Given the description of an element on the screen output the (x, y) to click on. 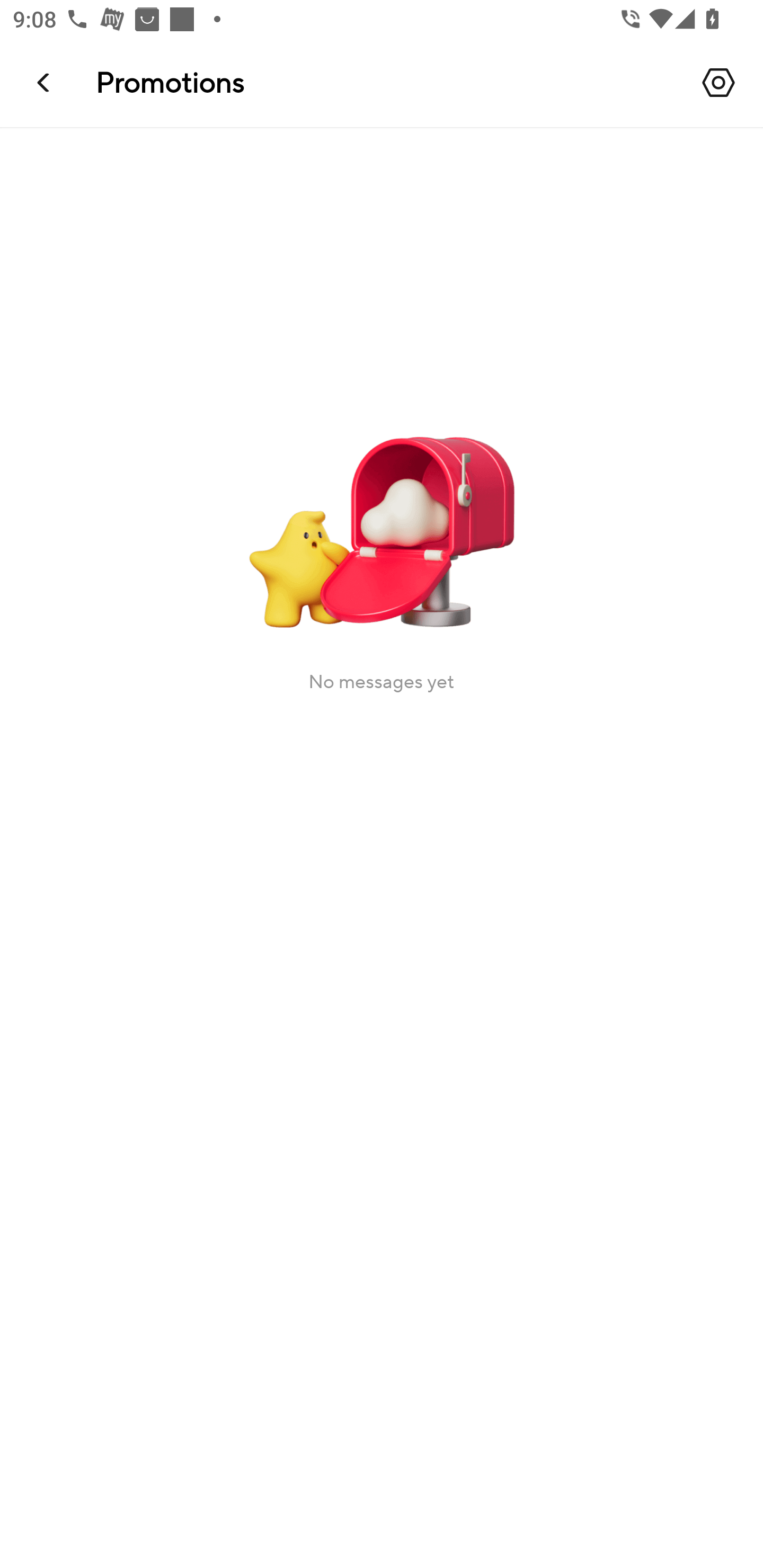
Navigate up (44, 82)
